Given the description of an element on the screen output the (x, y) to click on. 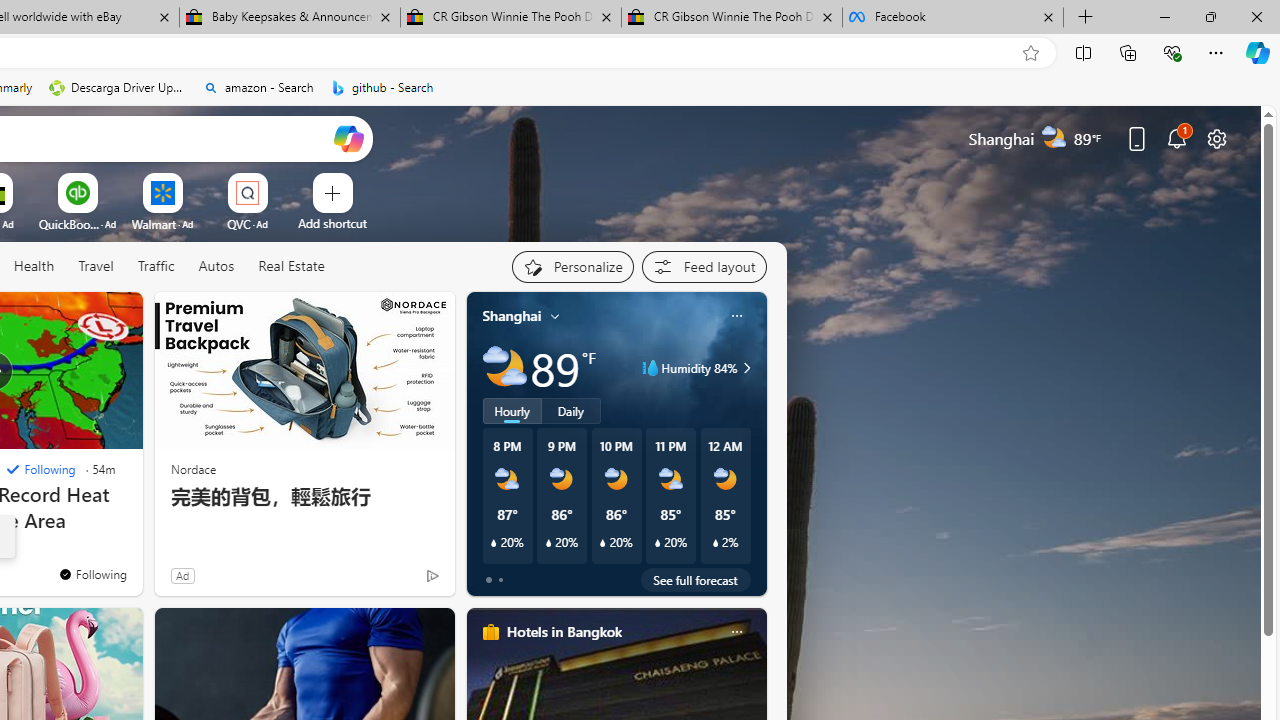
hotels-header-icon (490, 632)
Page settings (1216, 138)
Hotels in Bangkok (563, 631)
Class: weather-arrow-glyph (746, 367)
